Given the description of an element on the screen output the (x, y) to click on. 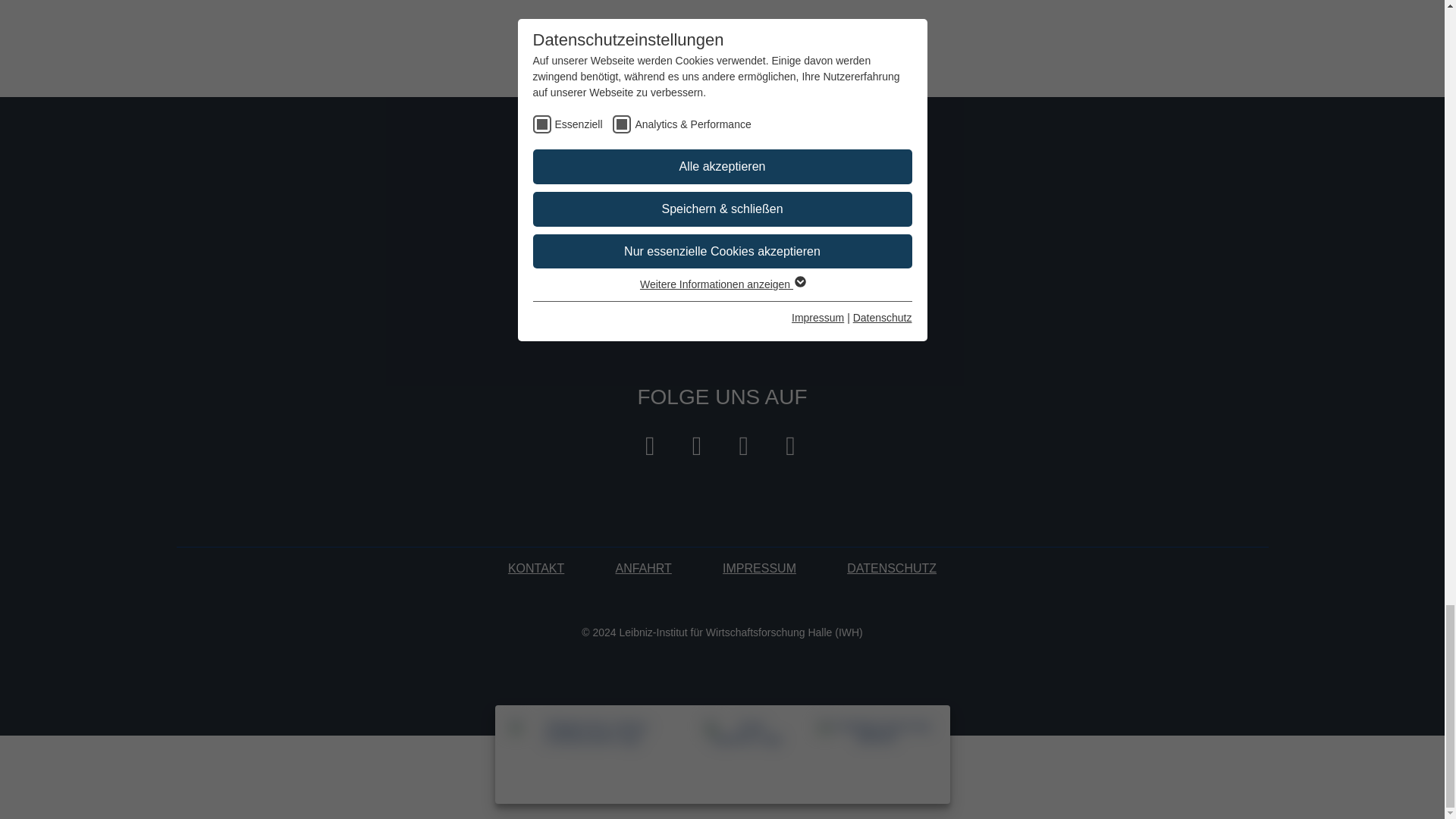
absenden (839, 251)
